Given the description of an element on the screen output the (x, y) to click on. 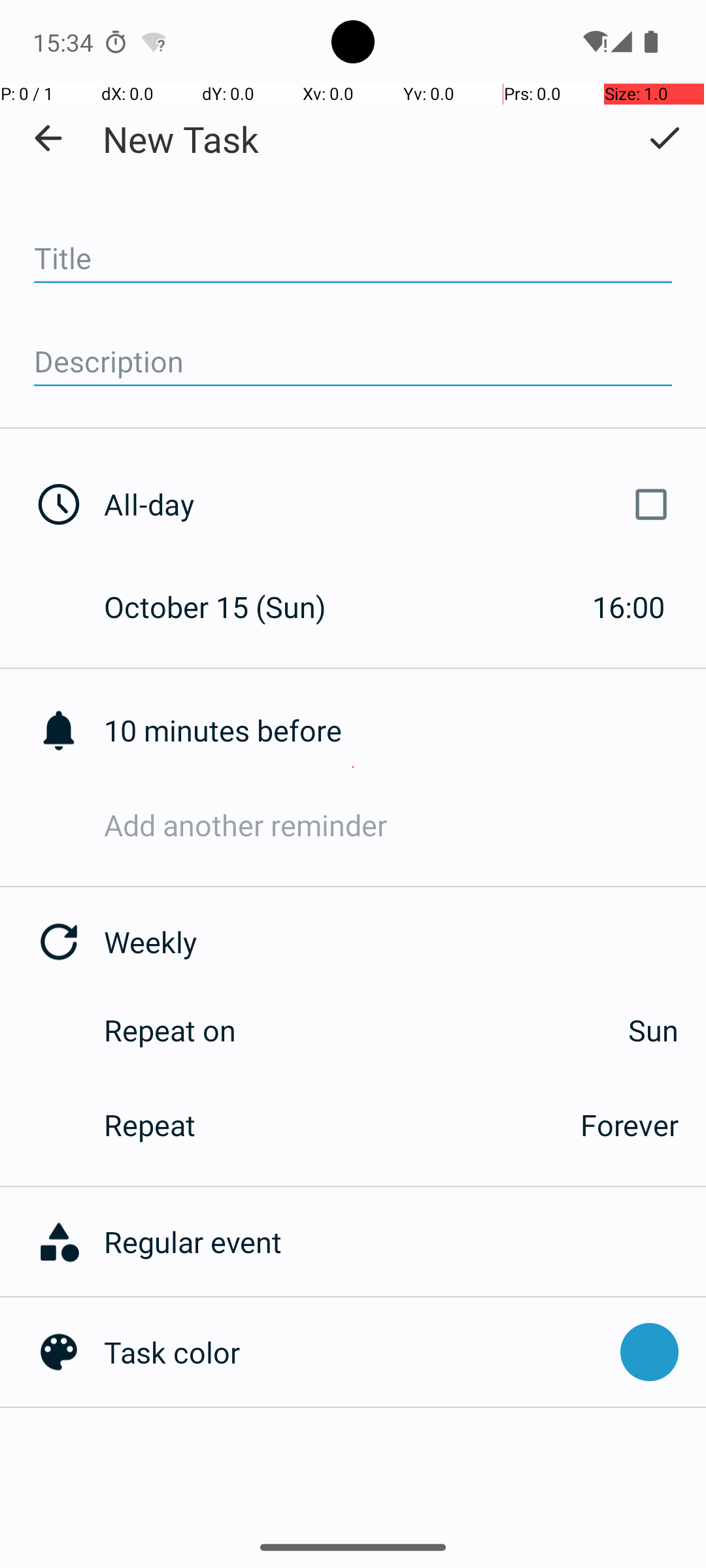
Repeat on Element type: android.widget.TextView (169, 1029)
Sun Element type: android.widget.TextView (470, 1029)
Task color Element type: android.widget.TextView (354, 1351)
